Given the description of an element on the screen output the (x, y) to click on. 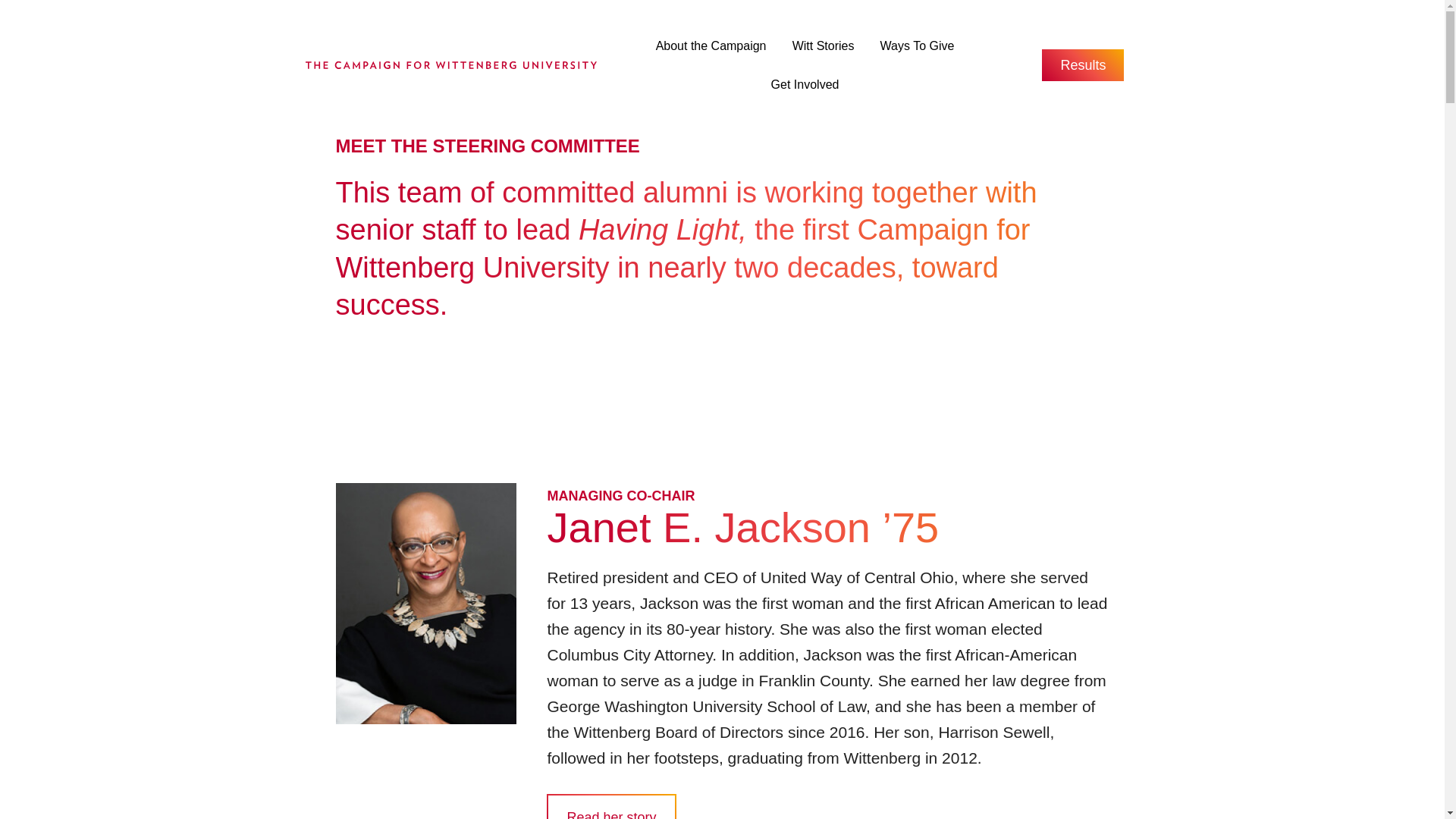
Results (1083, 65)
Ways To Give (917, 50)
Logotype (449, 64)
About the Campaign (711, 50)
Witt Stories (823, 50)
Get Involved (805, 90)
Read her story (611, 806)
